Given the description of an element on the screen output the (x, y) to click on. 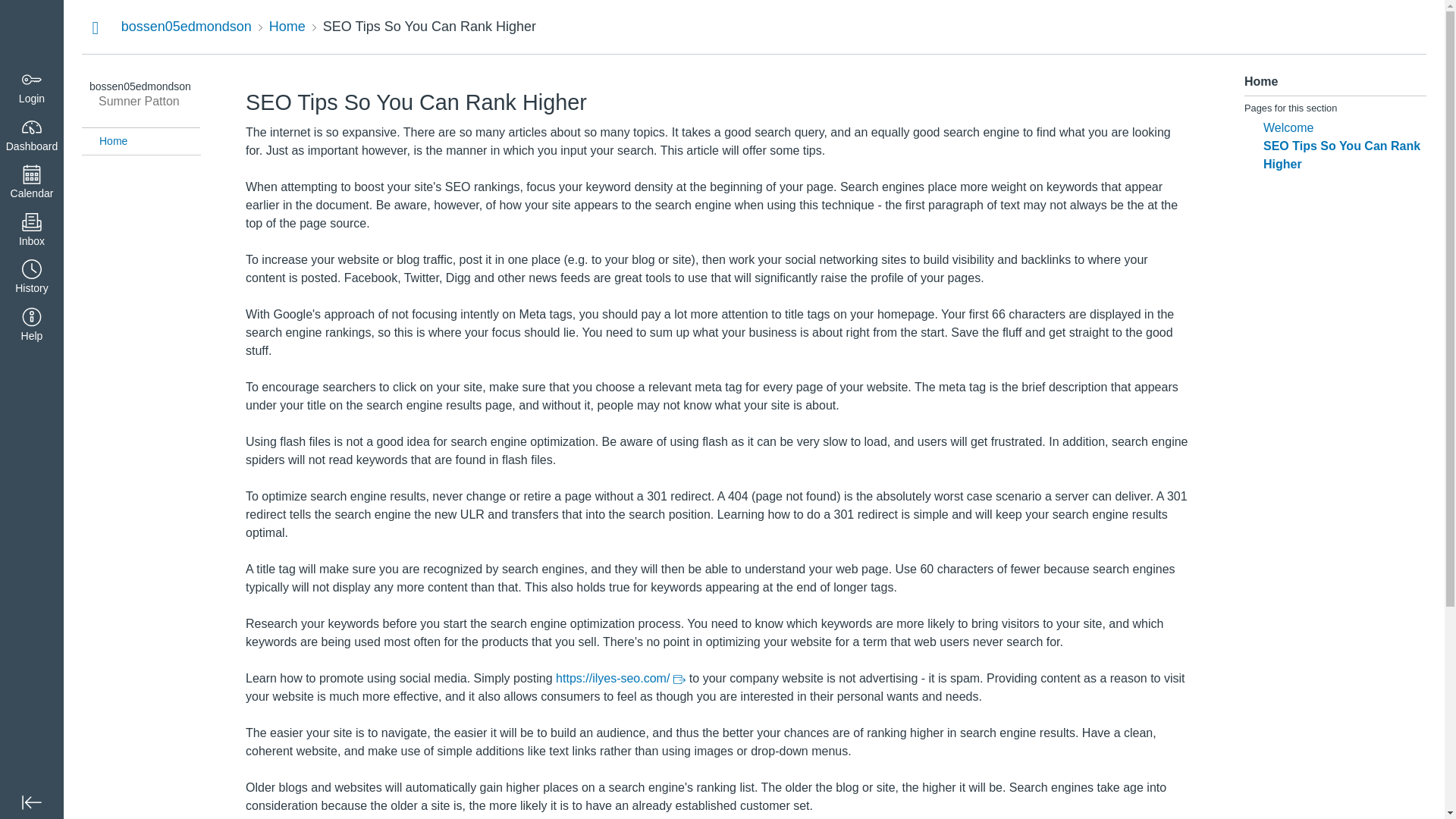
Inbox (32, 230)
History (32, 277)
SEO Tips So You Can Rank Higher (429, 26)
Home (149, 141)
Minimize global navigation (32, 802)
Login (32, 88)
Dashboard (32, 32)
Help (32, 325)
Home (287, 26)
Calendar (32, 182)
Dashboard (32, 135)
bossen05edmondson (185, 26)
